Given the description of an element on the screen output the (x, y) to click on. 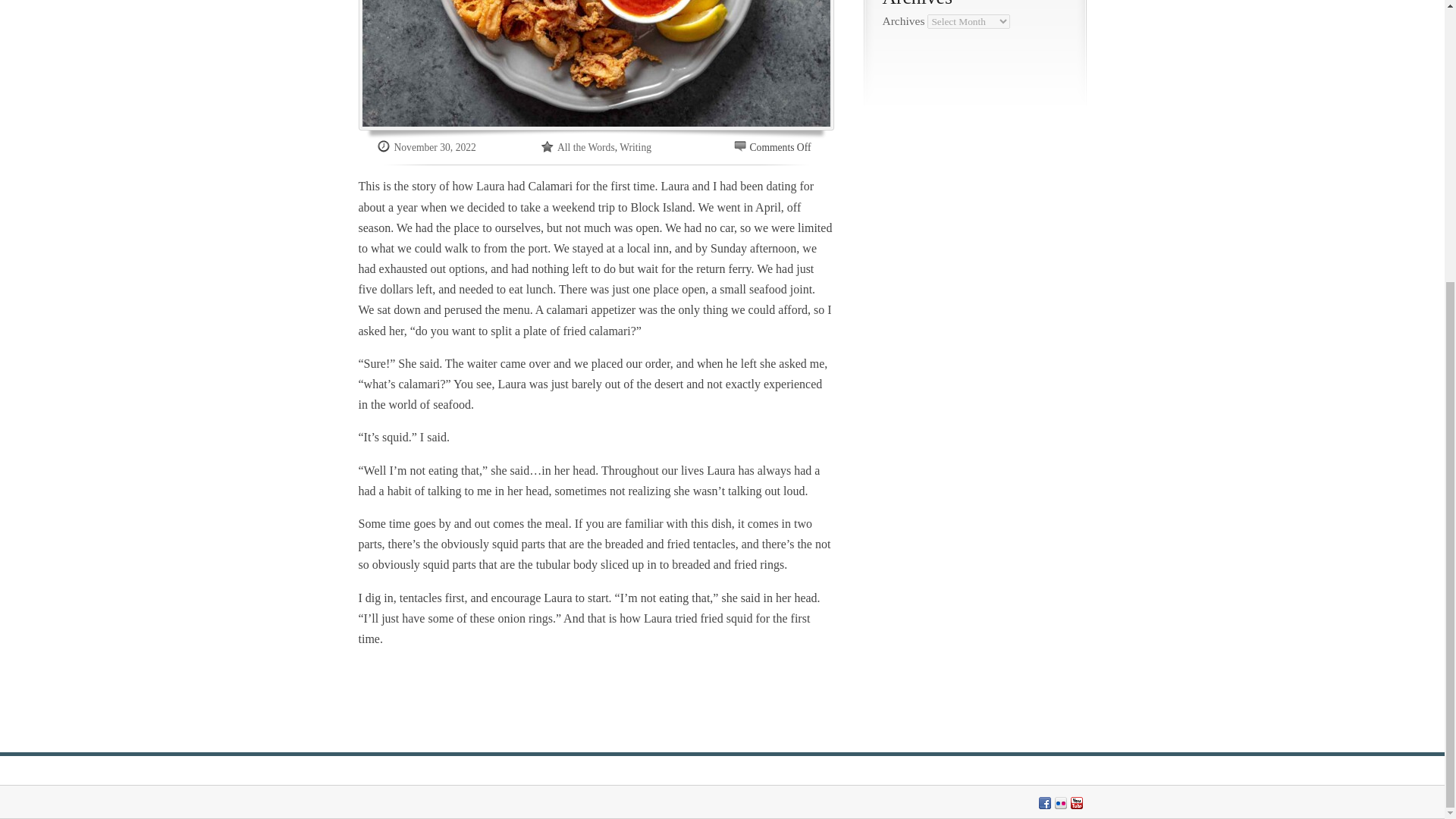
Facebook (1045, 802)
YouTube (1076, 802)
All the Words (585, 147)
Facebook (1045, 802)
Flickr (1059, 802)
Writing (635, 147)
Flickr (1059, 802)
November 30, 2022 (435, 147)
YouTube (1076, 802)
